Given the description of an element on the screen output the (x, y) to click on. 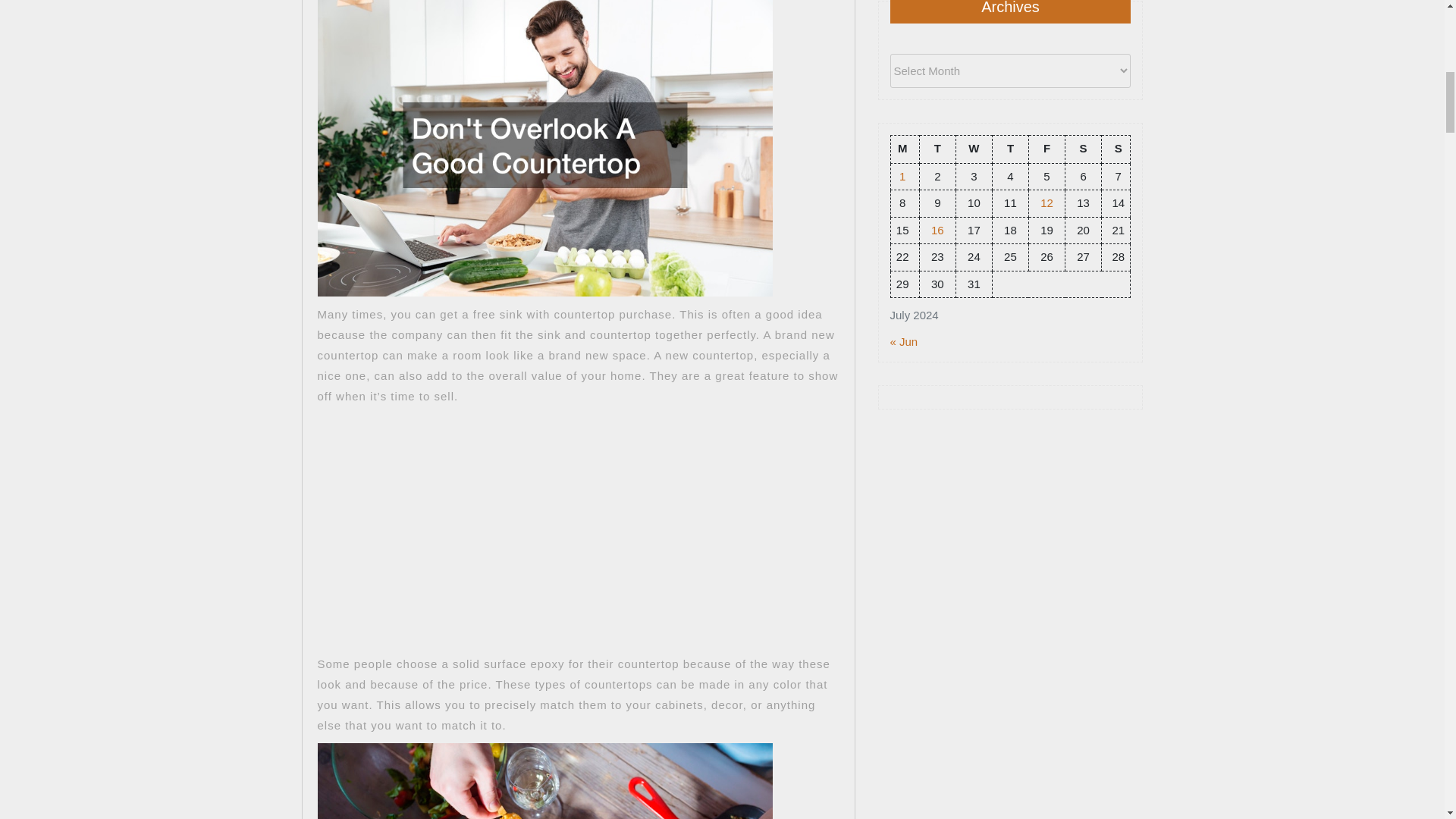
Friday (1045, 148)
Laminate Countertop - Patterning - Irregular Shapes (515, 517)
Sunday (1116, 148)
16 (937, 228)
Tuesday (936, 148)
Monday (903, 148)
Saturday (1083, 148)
12 (1046, 202)
Thursday (1009, 148)
Wednesday (973, 148)
